Given the description of an element on the screen output the (x, y) to click on. 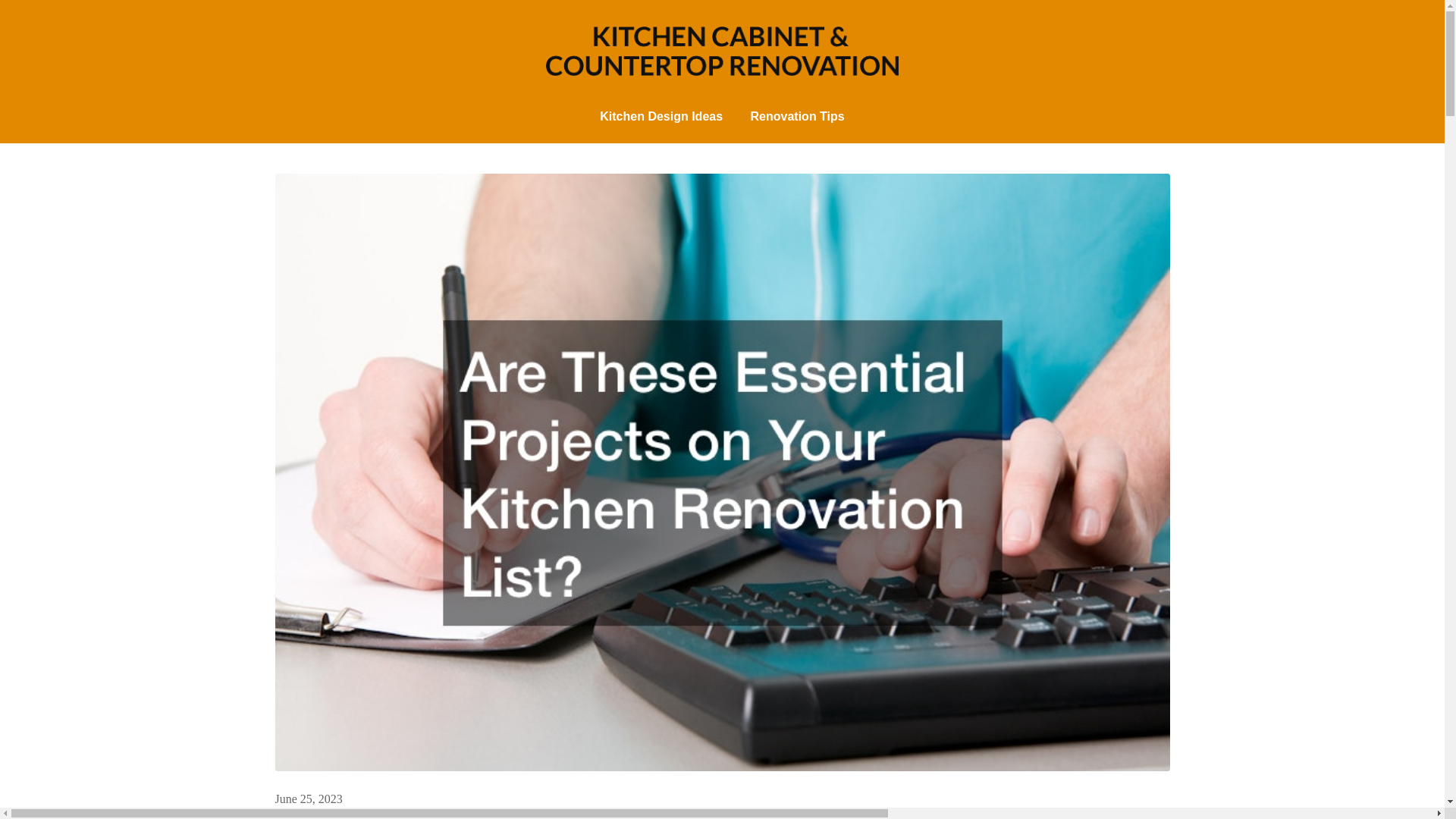
June 25, 2023 (308, 798)
Kitchen Design Ideas (661, 116)
Renovation Tips (797, 116)
